Given the description of an element on the screen output the (x, y) to click on. 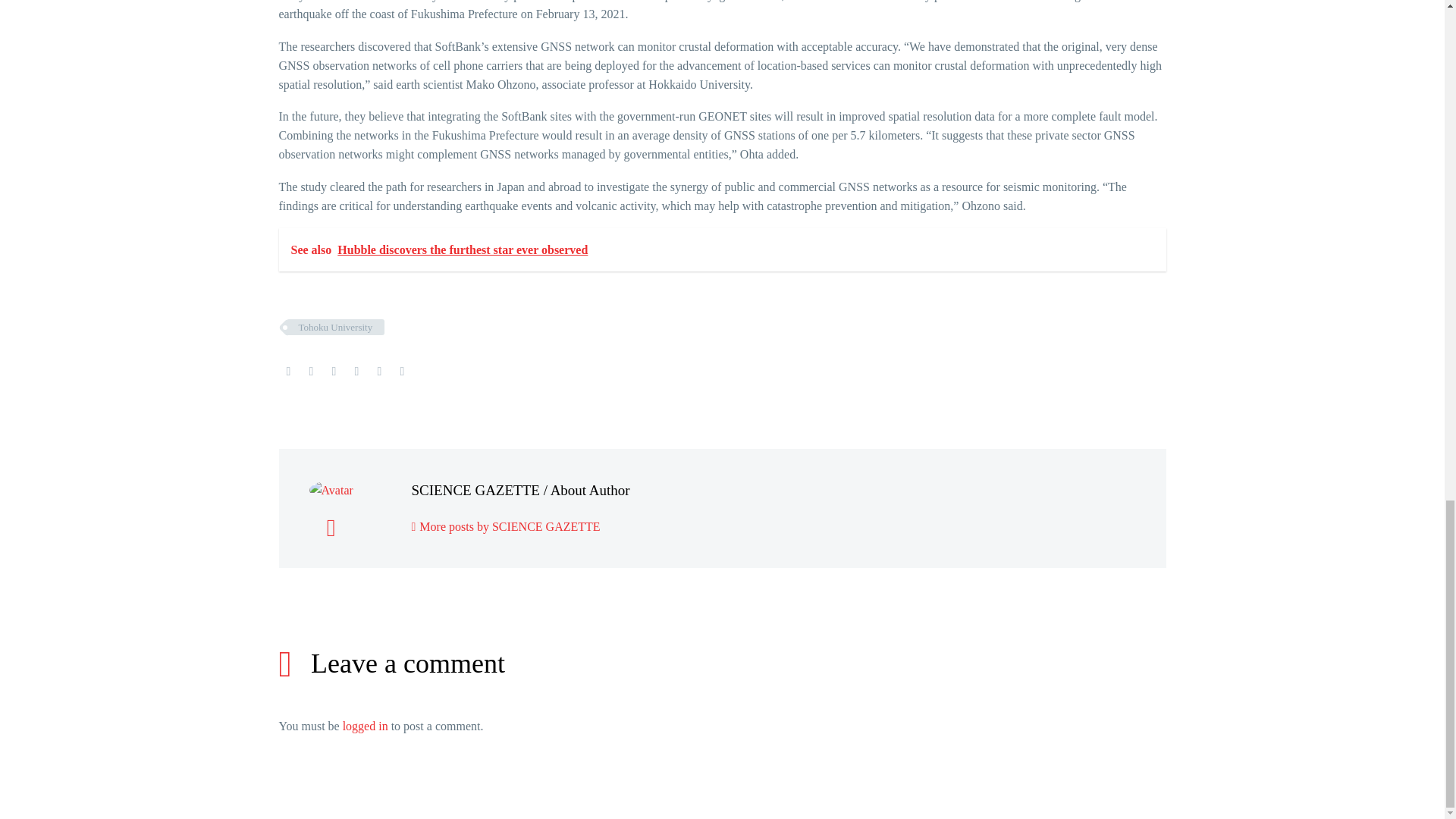
logged in (365, 725)
Pinterest (333, 371)
More posts by SCIENCE GAZETTE (504, 526)
Tohoku University (335, 326)
Tumblr (356, 371)
See also  Hubble discovers the furthest star ever observed (722, 249)
Reddit (401, 371)
Twitter (310, 371)
Facebook (288, 371)
LinkedIn (378, 371)
